Given the description of an element on the screen output the (x, y) to click on. 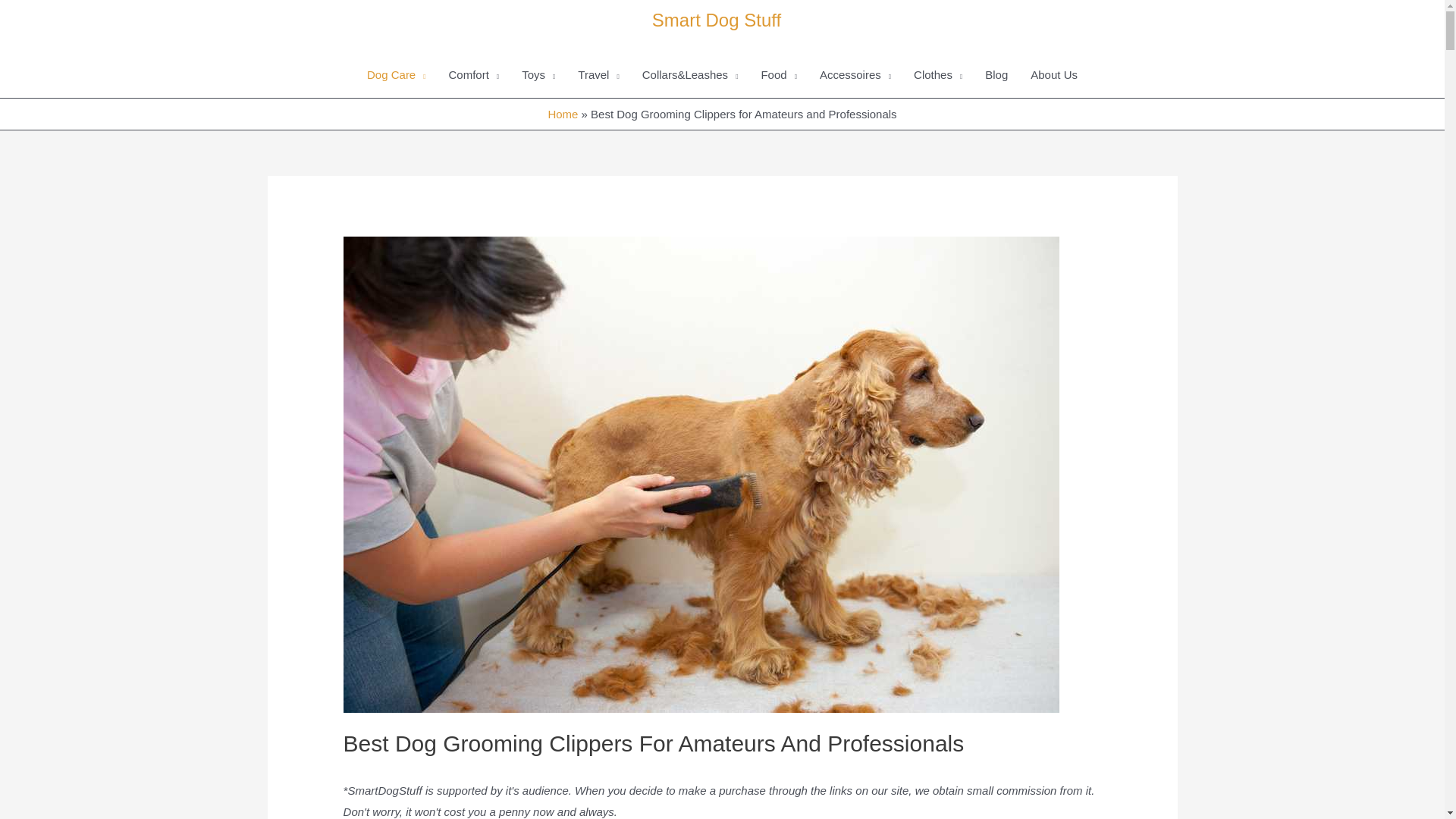
Dog Care (396, 74)
Smart Dog Stuff (716, 19)
